Given the description of an element on the screen output the (x, y) to click on. 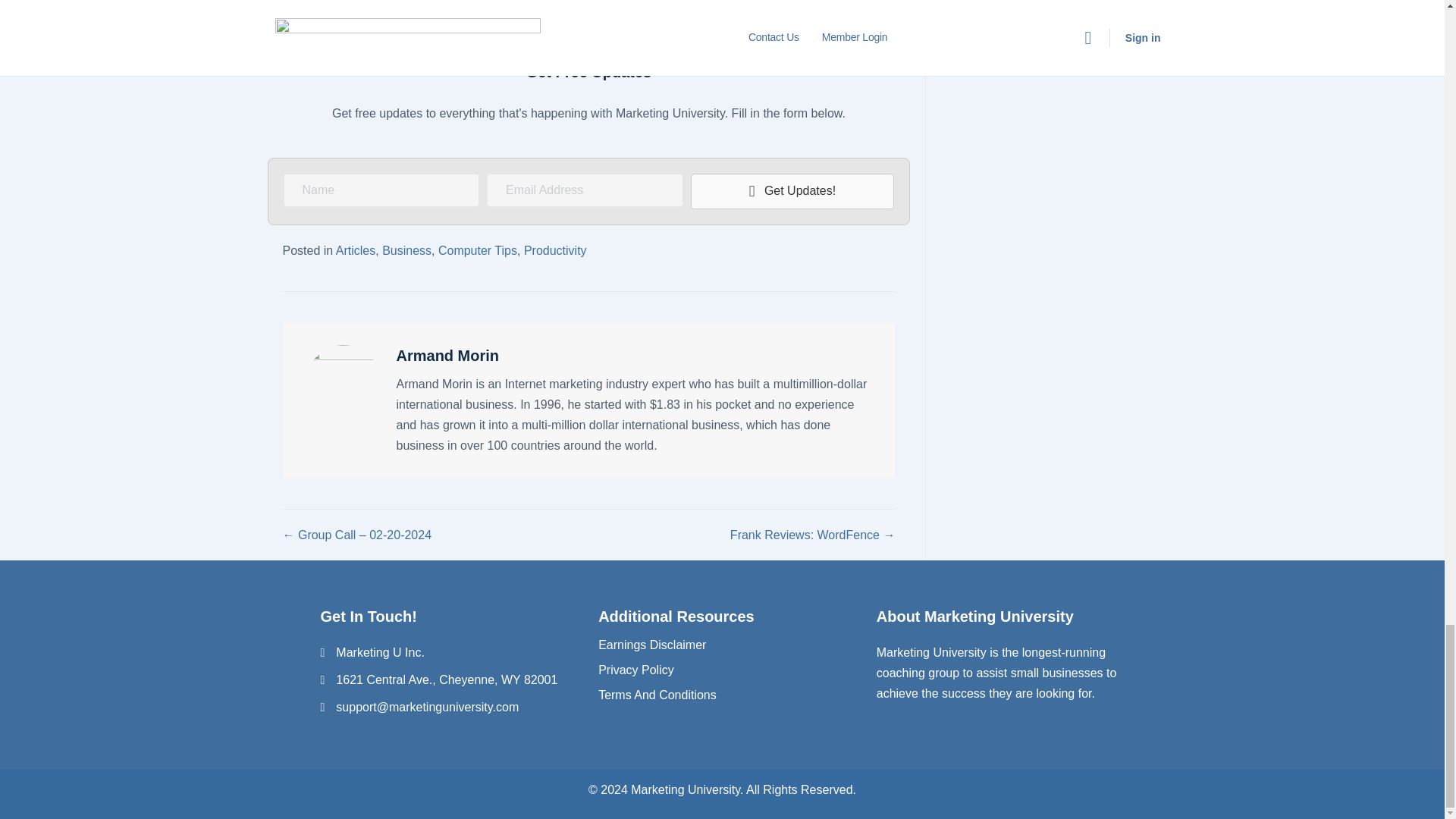
Earnings Disclaimer (652, 644)
Facebook Landscape (588, 15)
1621 Central Ave., Cheyenne, WY 82001 (446, 679)
Computer Tips (477, 250)
Privacy Policy (636, 669)
Get Updates! (792, 191)
Terms And Conditions (657, 694)
Marketing U Inc. (379, 652)
Productivity (555, 250)
Business (405, 250)
